Given the description of an element on the screen output the (x, y) to click on. 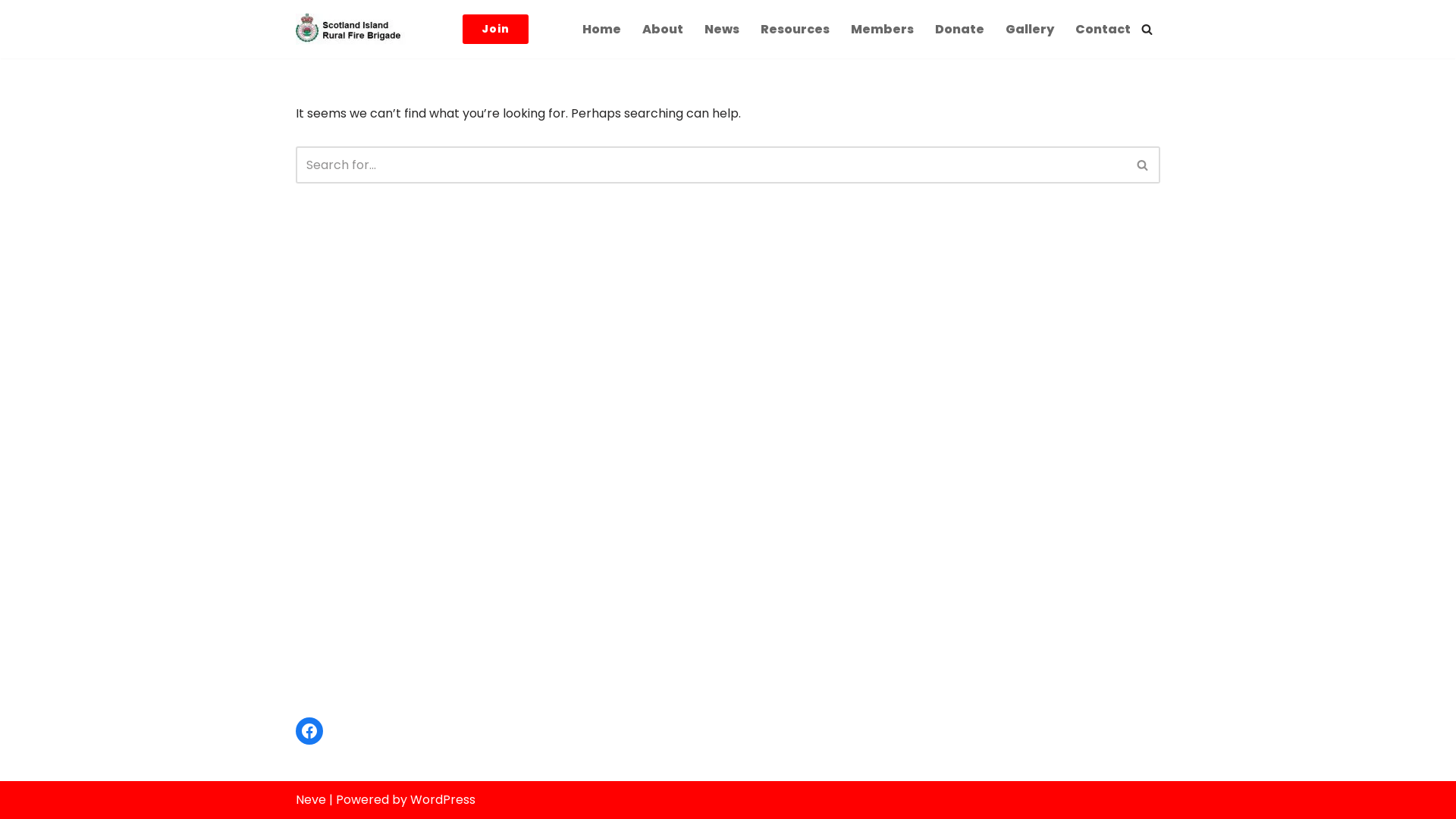
Resources Element type: text (794, 28)
Gallery Element type: text (1029, 28)
Neve Element type: text (310, 799)
WordPress Element type: text (442, 799)
Join Element type: text (495, 28)
Donate Element type: text (959, 28)
Contact Element type: text (1102, 28)
About Element type: text (662, 28)
Skip to content Element type: text (11, 31)
Members Element type: text (881, 28)
Home Element type: text (601, 28)
News Element type: text (721, 28)
